Given the description of an element on the screen output the (x, y) to click on. 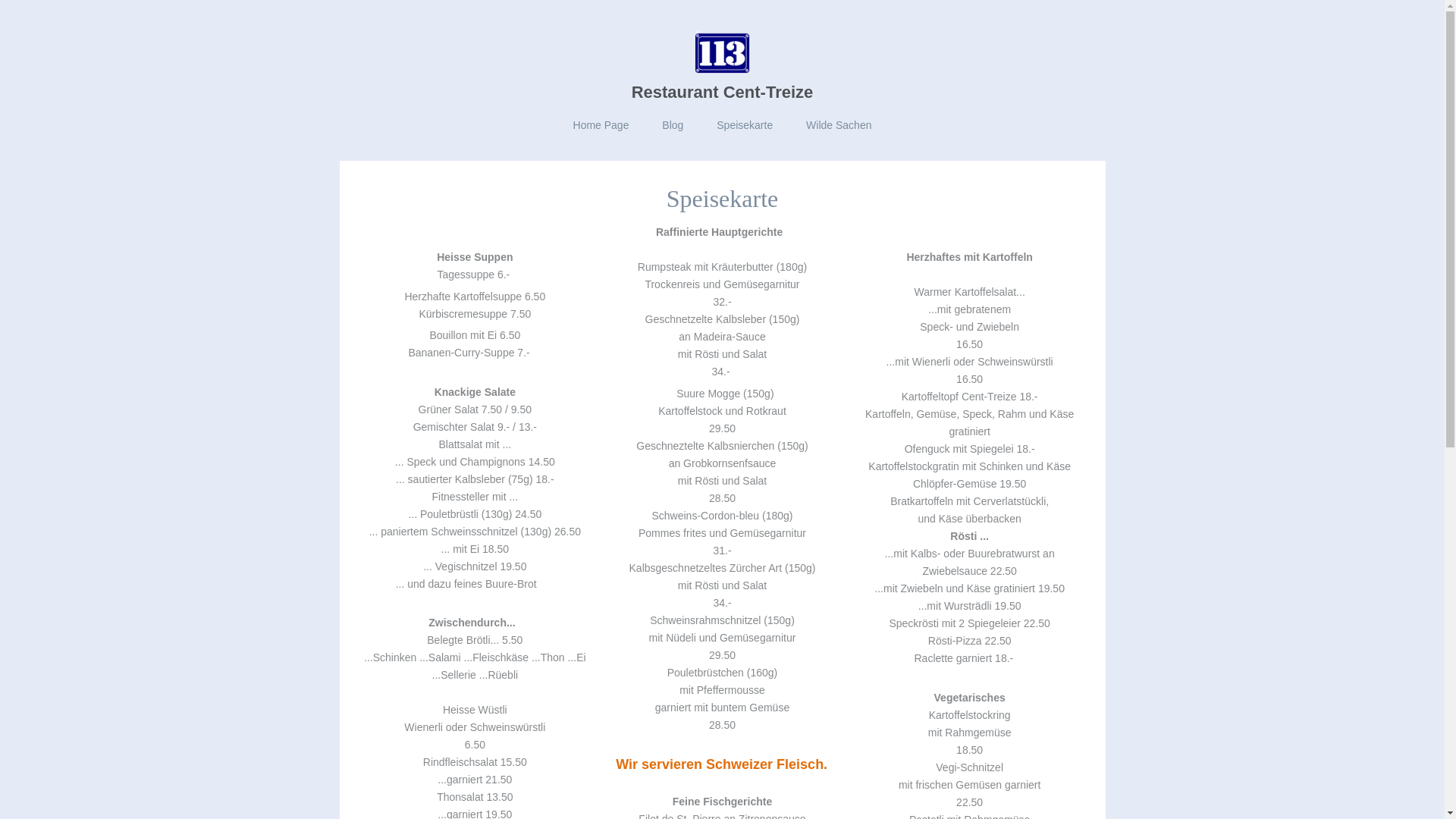
Speisekarte Element type: text (744, 125)
Restaurant Cent-Treize Element type: text (722, 91)
Wilde Sachen Element type: text (838, 125)
Home Page Element type: text (601, 125)
Blog Element type: text (672, 125)
